Given the description of an element on the screen output the (x, y) to click on. 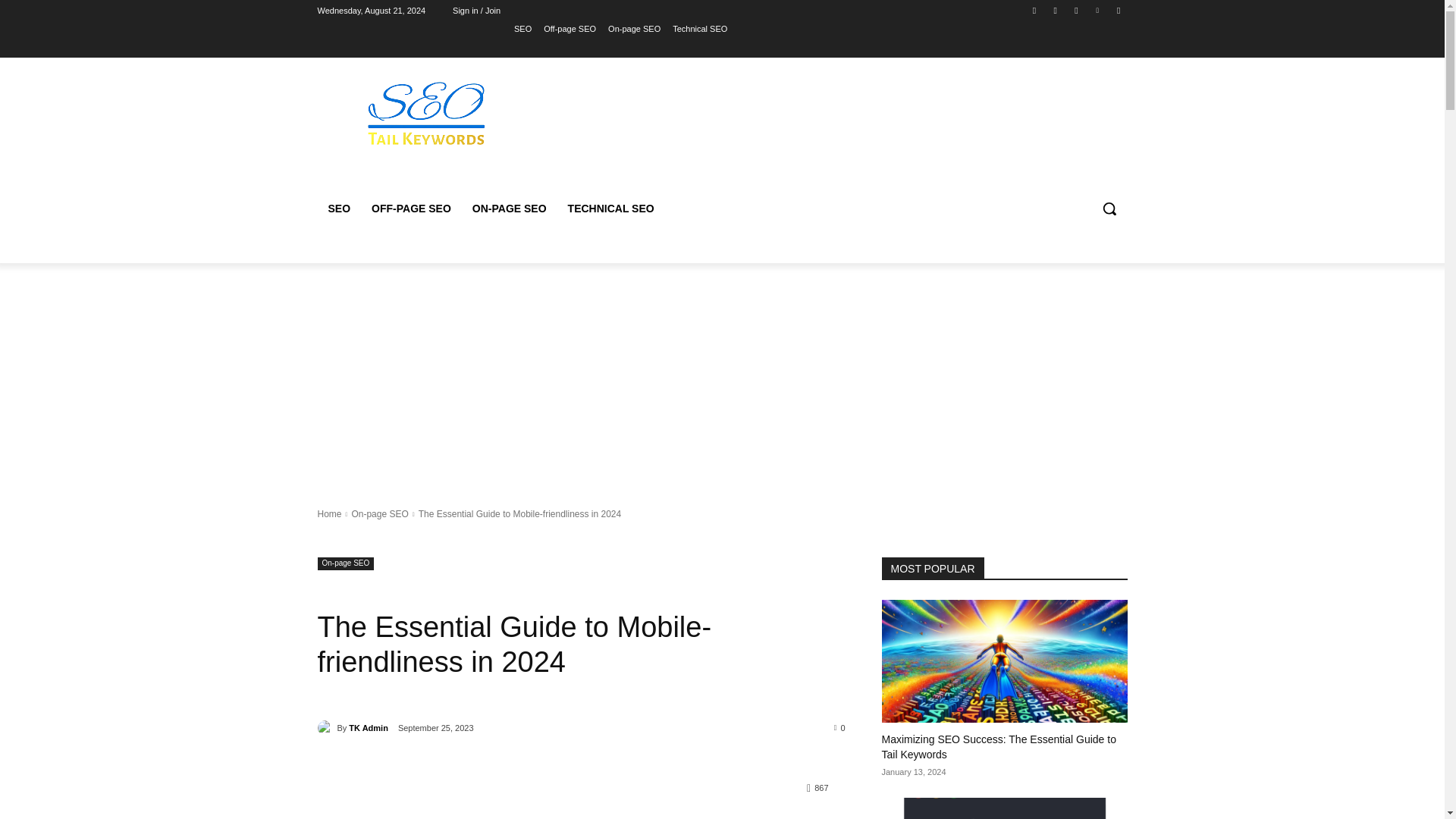
Instagram (1055, 9)
On-page SEO (378, 513)
Off-page SEO (569, 28)
Twitter (1075, 9)
Home (328, 513)
Youtube (1117, 9)
TECHNICAL SEO (611, 208)
SEO (339, 208)
Facebook (1034, 9)
On-page SEO (345, 563)
